Given the description of an element on the screen output the (x, y) to click on. 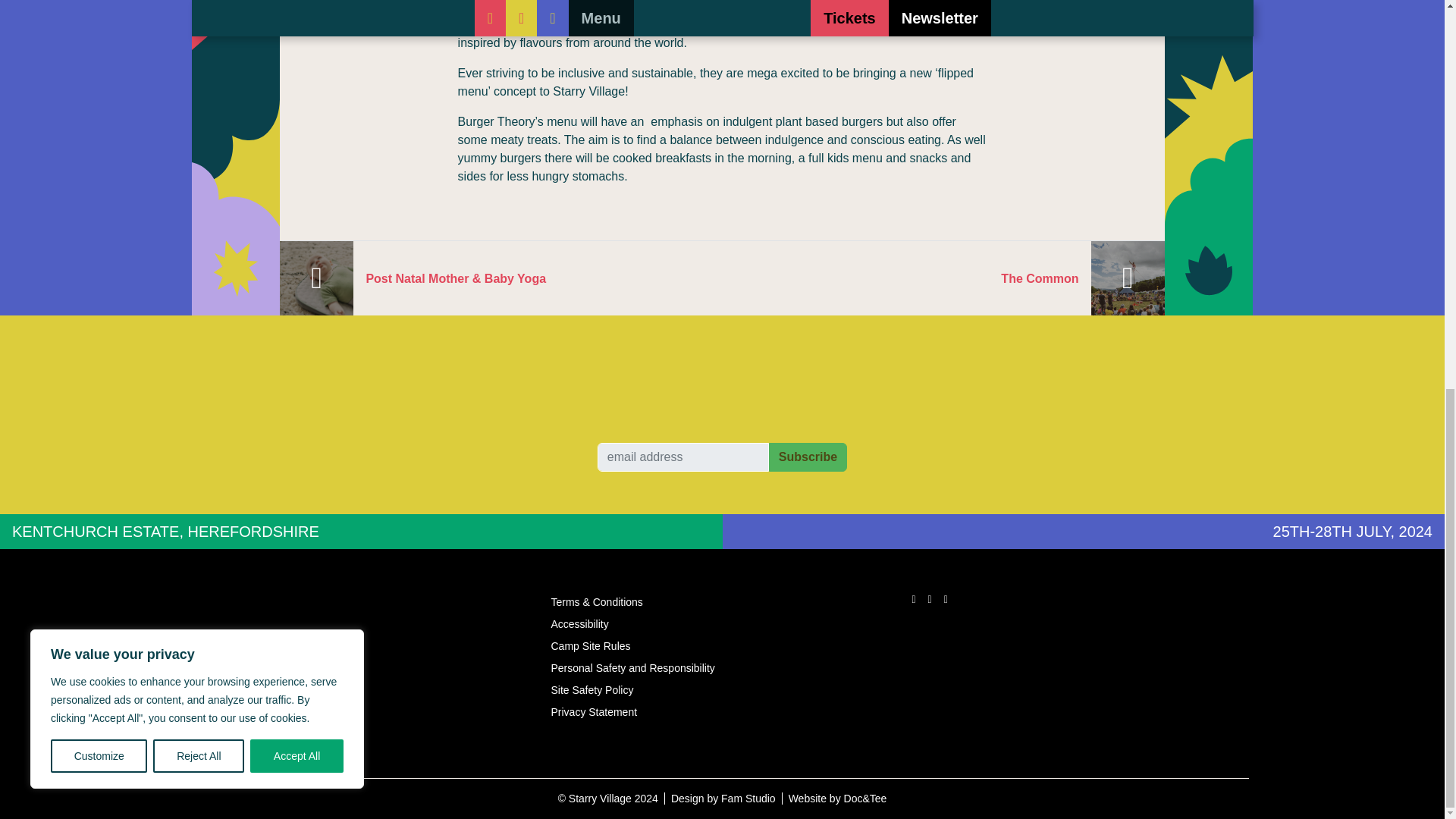
Accessibility (721, 624)
Accept All (296, 17)
Customize (98, 17)
Burger Theory (496, 24)
Reject All (198, 17)
